Given the description of an element on the screen output the (x, y) to click on. 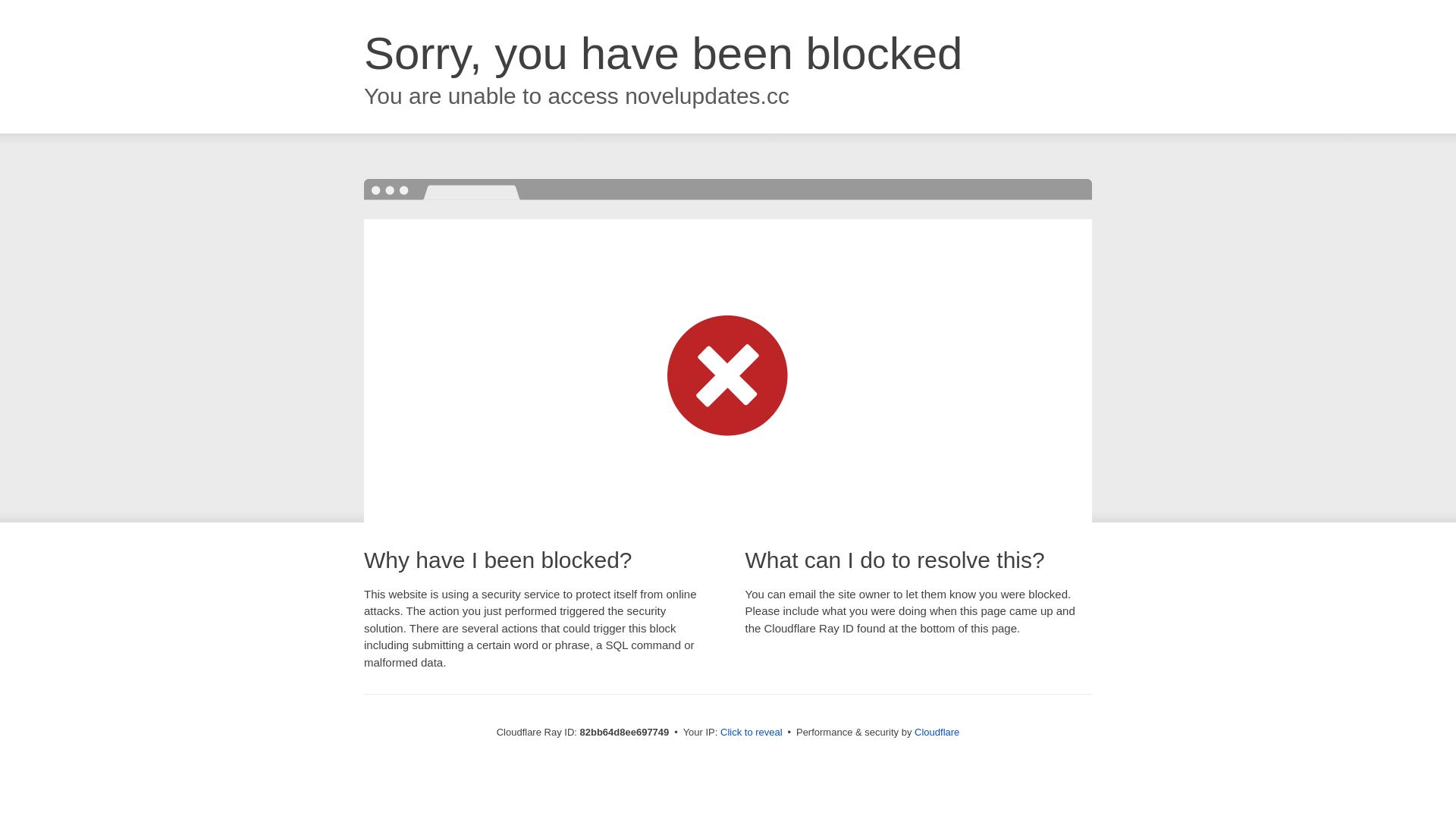
Cloudflare Element type: text (936, 731)
Click to reveal Element type: text (751, 732)
